Given the description of an element on the screen output the (x, y) to click on. 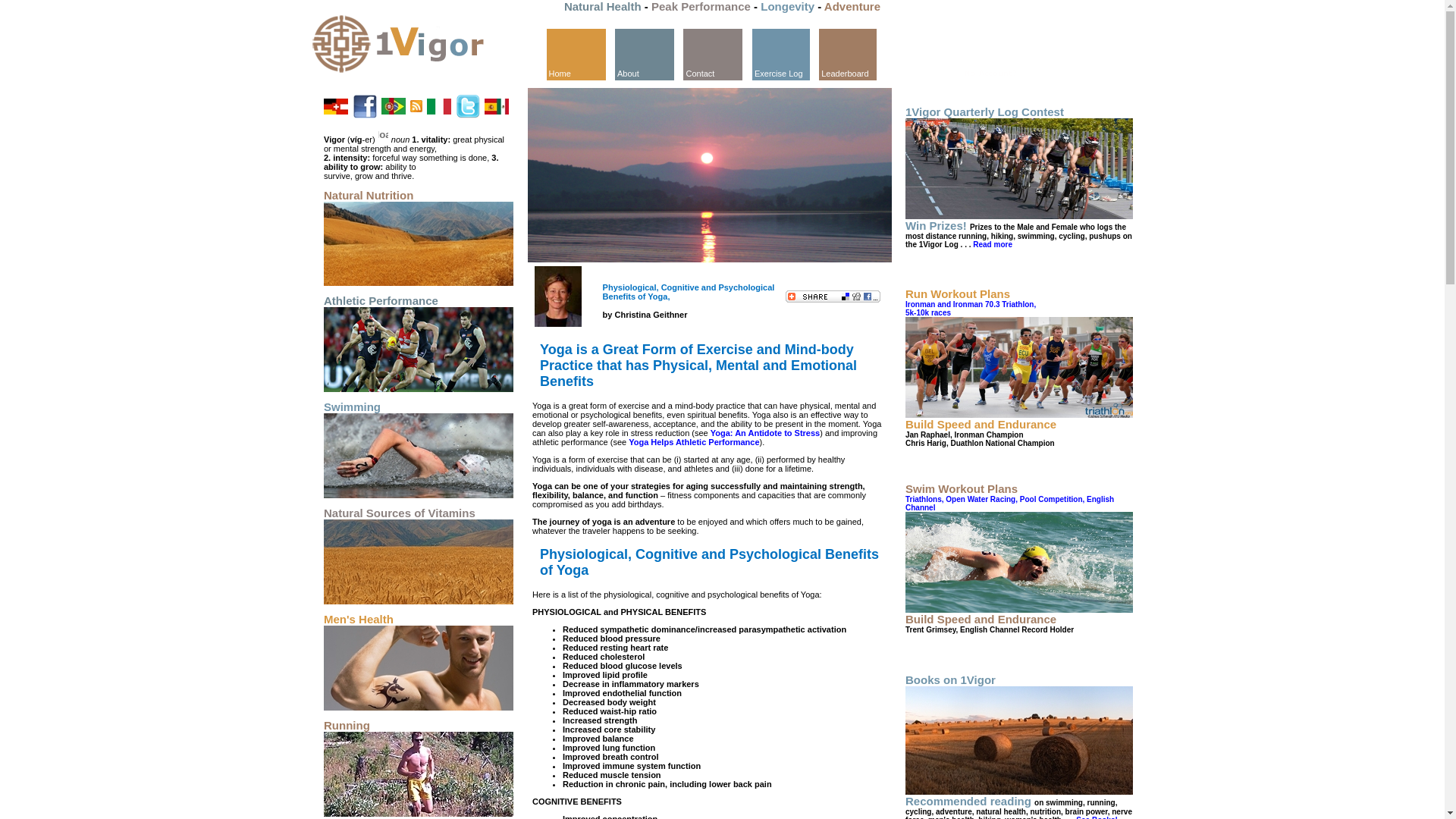
About Element type: text (644, 53)
Exercise Log Element type: text (780, 54)
Contact Element type: text (712, 54)
Yoga Helps Athletic Performance Element type: text (693, 441)
Contact Element type: text (712, 53)
Home Element type: text (575, 54)
Leaderboard Element type: text (847, 53)
Home Element type: text (575, 53)
Leaderboard Element type: text (847, 54)
About Element type: text (644, 54)
2008 ITU Duathlon World Championship in Rimini, Italy Element type: hover (1018, 366)
Exercise Log Element type: text (780, 53)
Ironman and Ironman 70.3 Triathlon,
5k-10k races Element type: text (970, 308)
Read more Element type: text (990, 243)
Yoga: An Antidote to Stress Element type: text (764, 432)
